Given the description of an element on the screen output the (x, y) to click on. 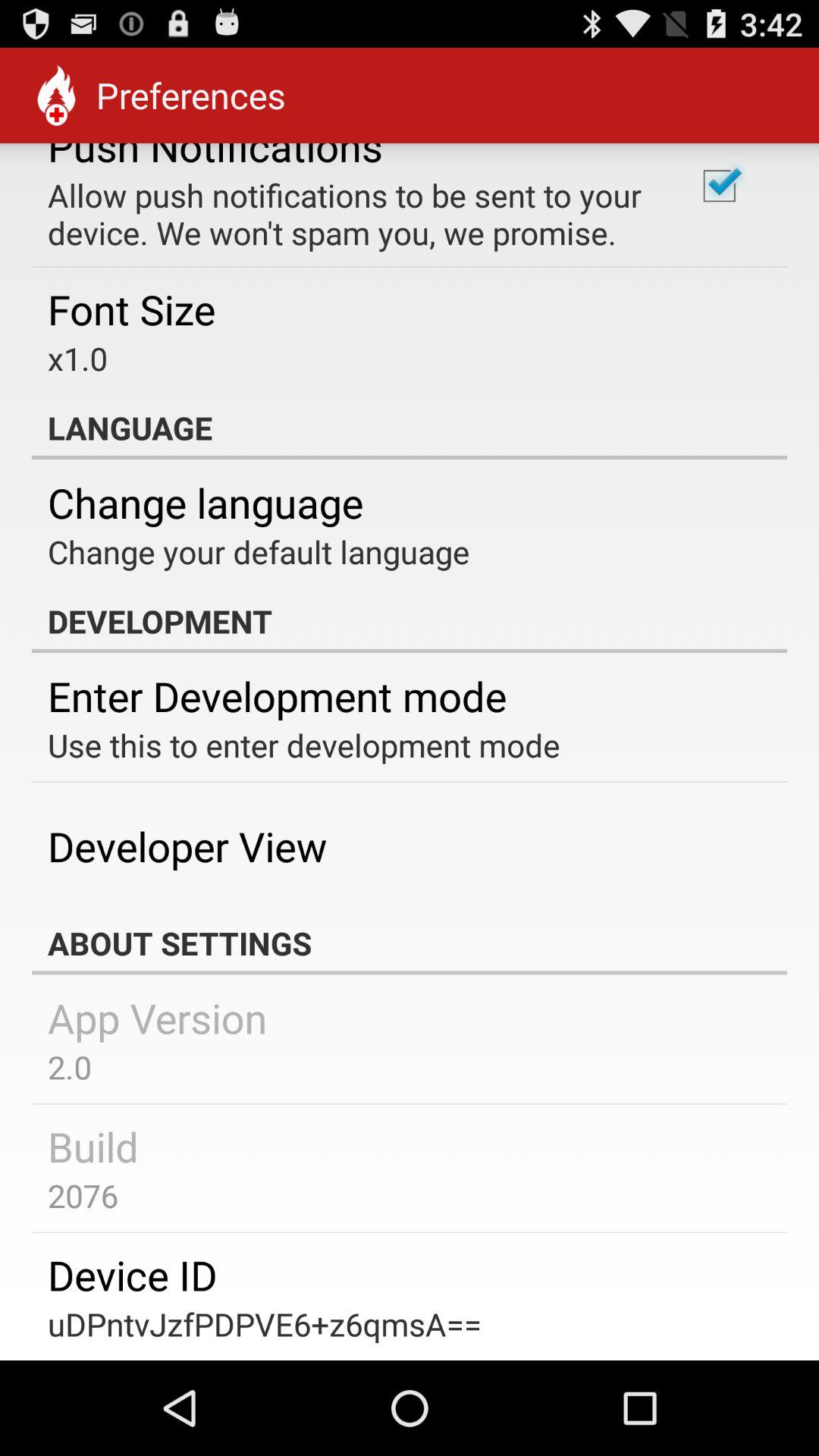
select the item next to allow push notifications app (719, 185)
